Given the description of an element on the screen output the (x, y) to click on. 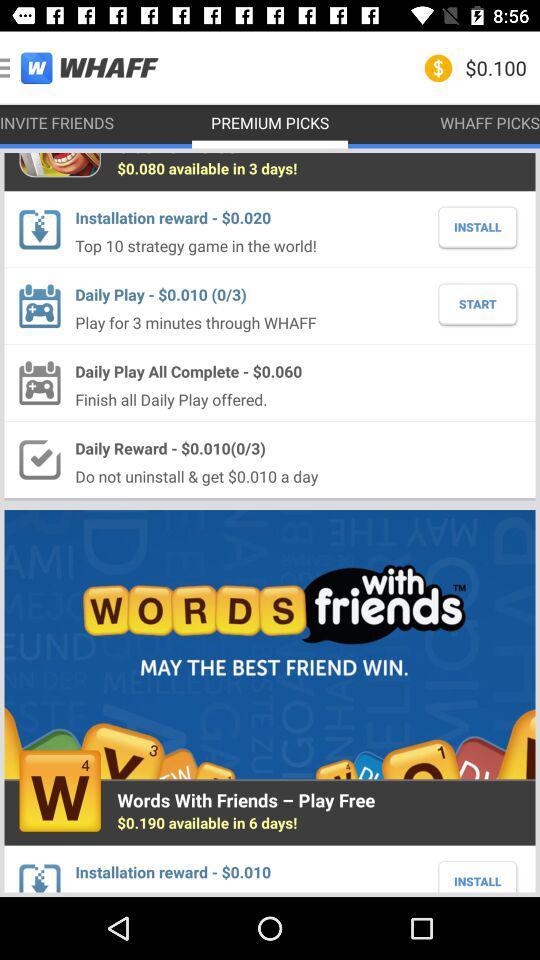
open app next to the premium picks (80, 66)
